Given the description of an element on the screen output the (x, y) to click on. 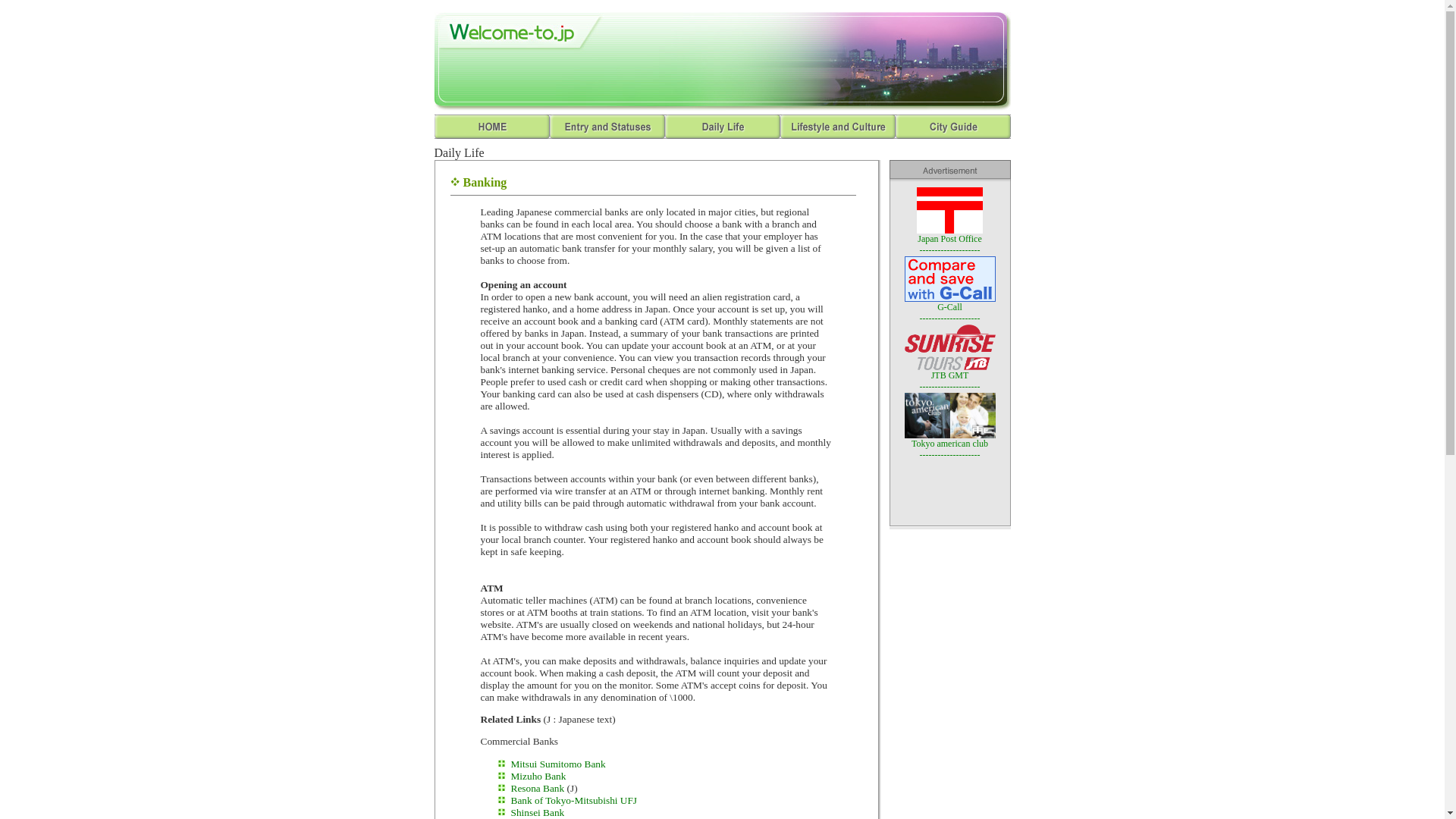
Resona Bank (537, 787)
Bank of Tokyo-Mitsubishi UFJ (574, 799)
Mitsui Sumitomo Bank (558, 763)
Mizuho Bank (538, 776)
Shinsei Bank (537, 812)
